Given the description of an element on the screen output the (x, y) to click on. 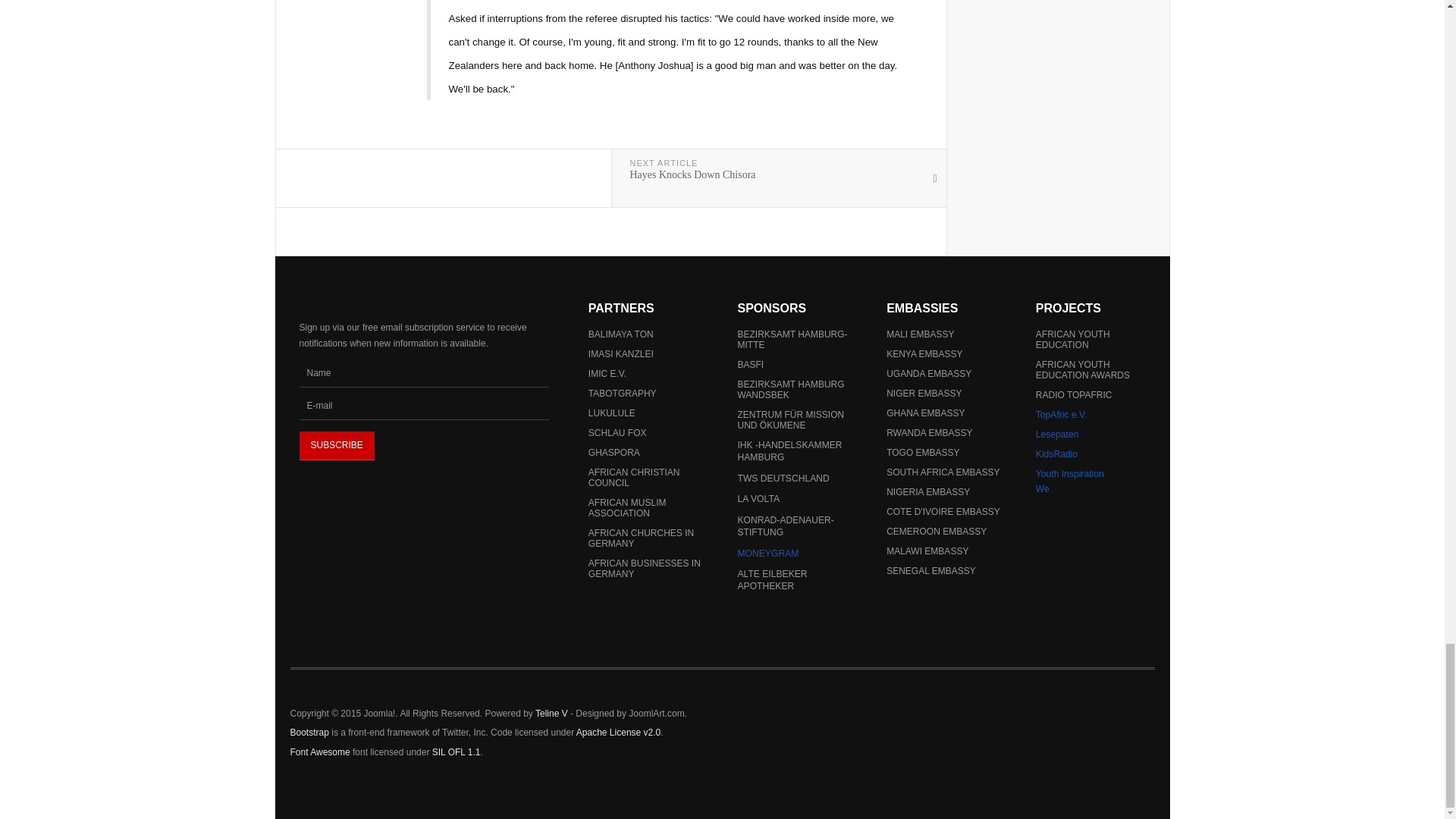
Subscribe (336, 445)
E-mail (423, 405)
Name (423, 372)
